Given the description of an element on the screen output the (x, y) to click on. 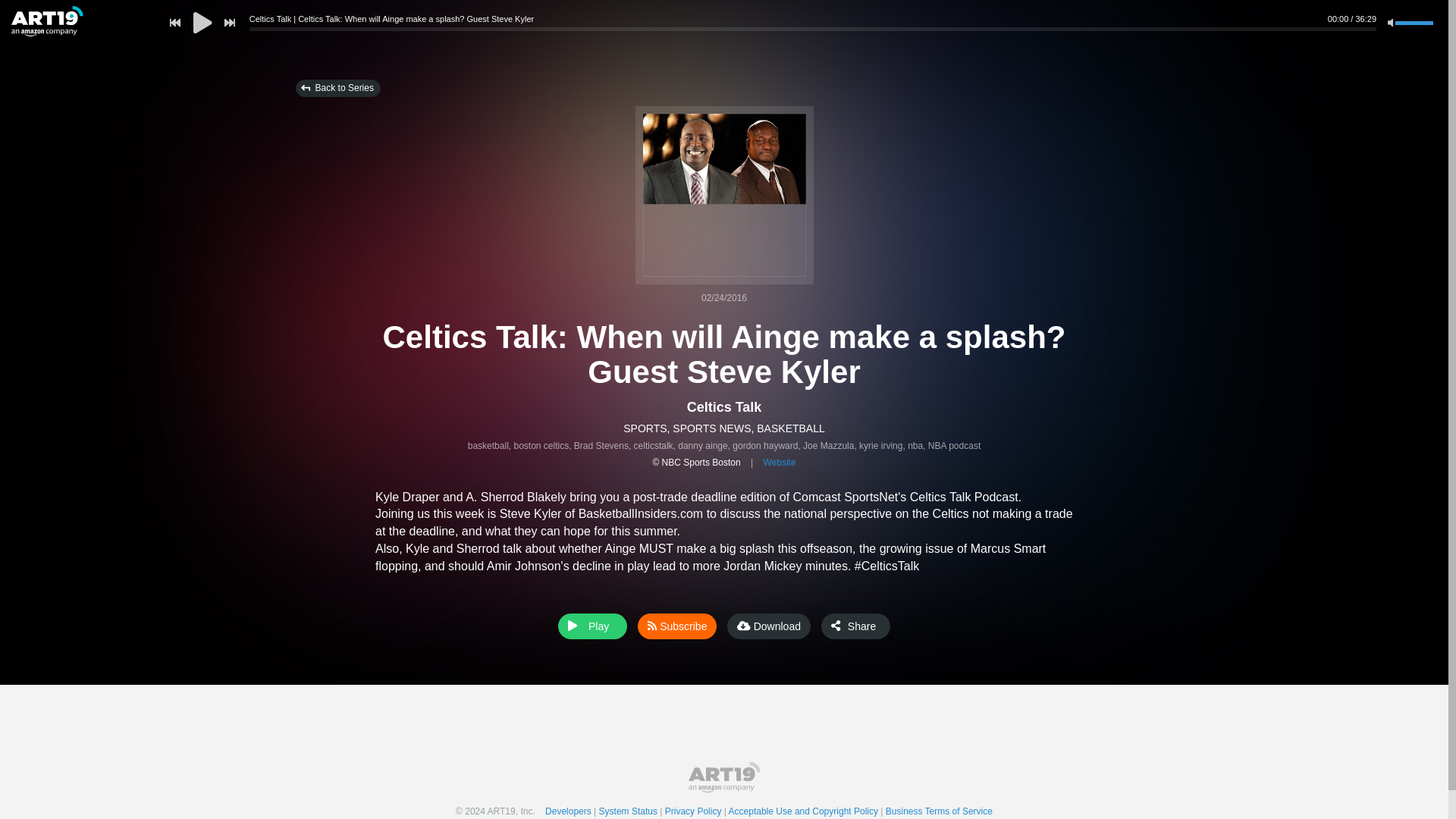
Developers (571, 810)
Website (778, 462)
Back to Series (337, 88)
Amazon Music (718, 622)
ART19 (724, 777)
Share (855, 626)
Play (592, 626)
Share on Facebook (869, 626)
Celtics Talk (724, 406)
Subscribe (676, 626)
